Given the description of an element on the screen output the (x, y) to click on. 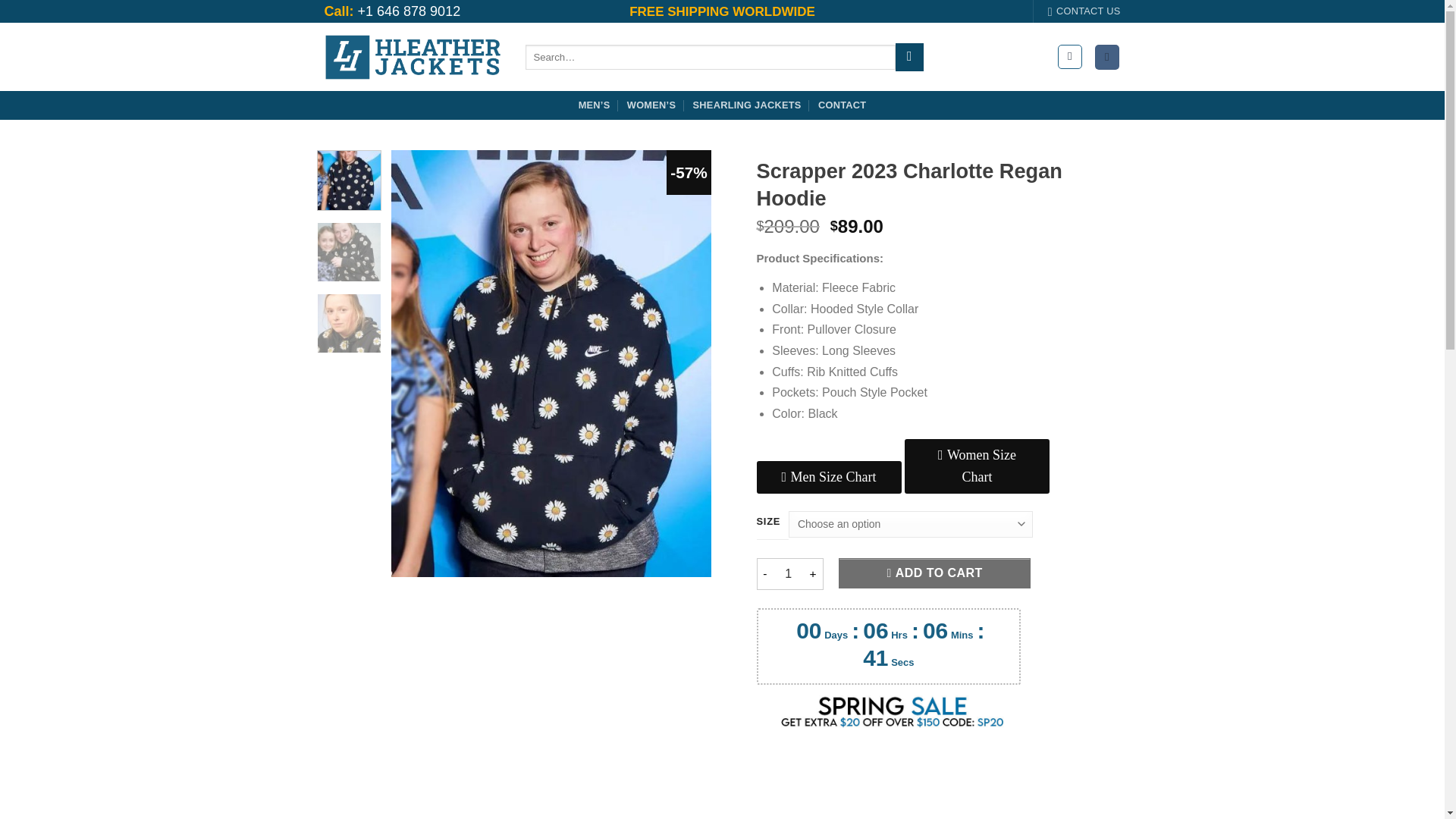
Hollywood Leather Jackets (413, 57)
Men Size Chart (829, 477)
Qty (788, 572)
1 (788, 572)
Cart (1106, 57)
ADD TO CART (934, 572)
Search (909, 57)
Women Size Chart (976, 465)
SHEARLING JACKETS (747, 104)
CONTACT US (1084, 11)
CONTACT (842, 104)
